Given the description of an element on the screen output the (x, y) to click on. 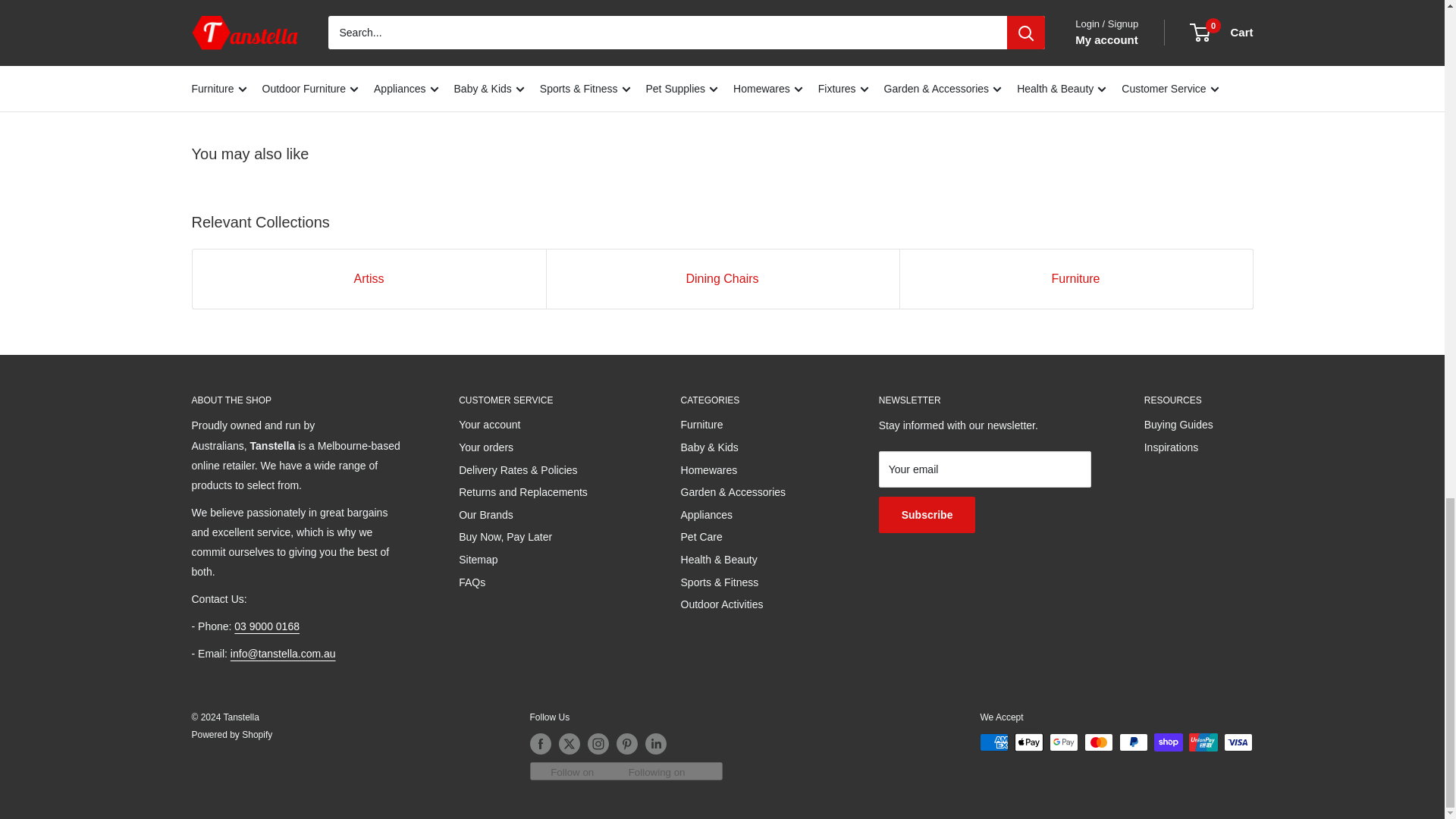
03 9000 0168 (266, 625)
